Given the description of an element on the screen output the (x, y) to click on. 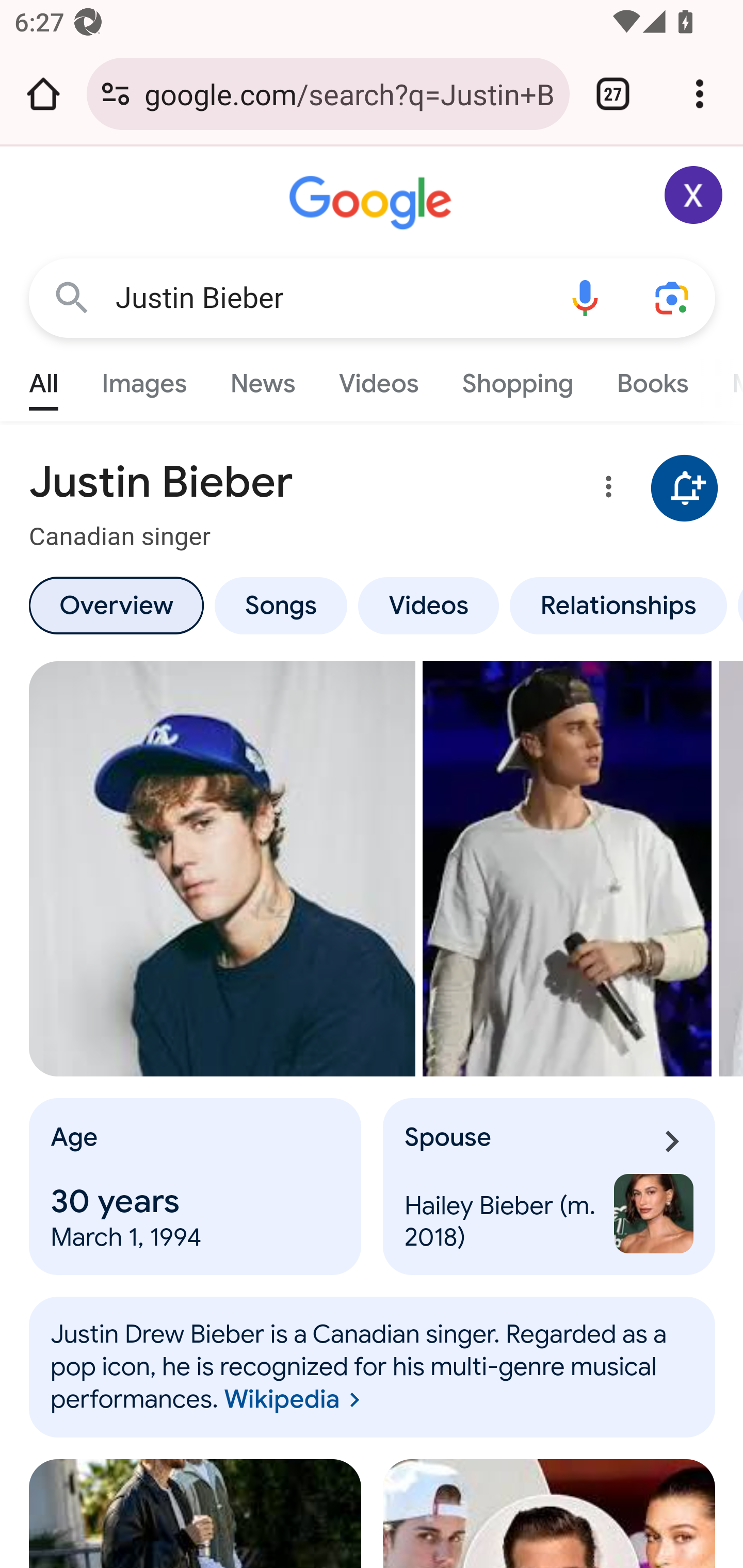
Open the home page (43, 93)
Connection is secure (115, 93)
Switch or close tabs (612, 93)
Customize and control Google Chrome (699, 93)
Google (372, 203)
Google Account: Xiaoran (zxrappiumtest@gmail.com) (694, 195)
Google Search (71, 296)
Search using your camera or photos (672, 296)
Justin Bieber (328, 297)
Images (144, 378)
News (262, 378)
Videos (378, 378)
Shopping (516, 378)
Books (652, 378)
Get notifications about Justin Bieber (684, 489)
More options (605, 489)
Overview (116, 605)
Songs (280, 605)
Videos (428, 605)
Relationships (618, 605)
Justin Bieber - Wikipedia (567, 868)
